Given the description of an element on the screen output the (x, y) to click on. 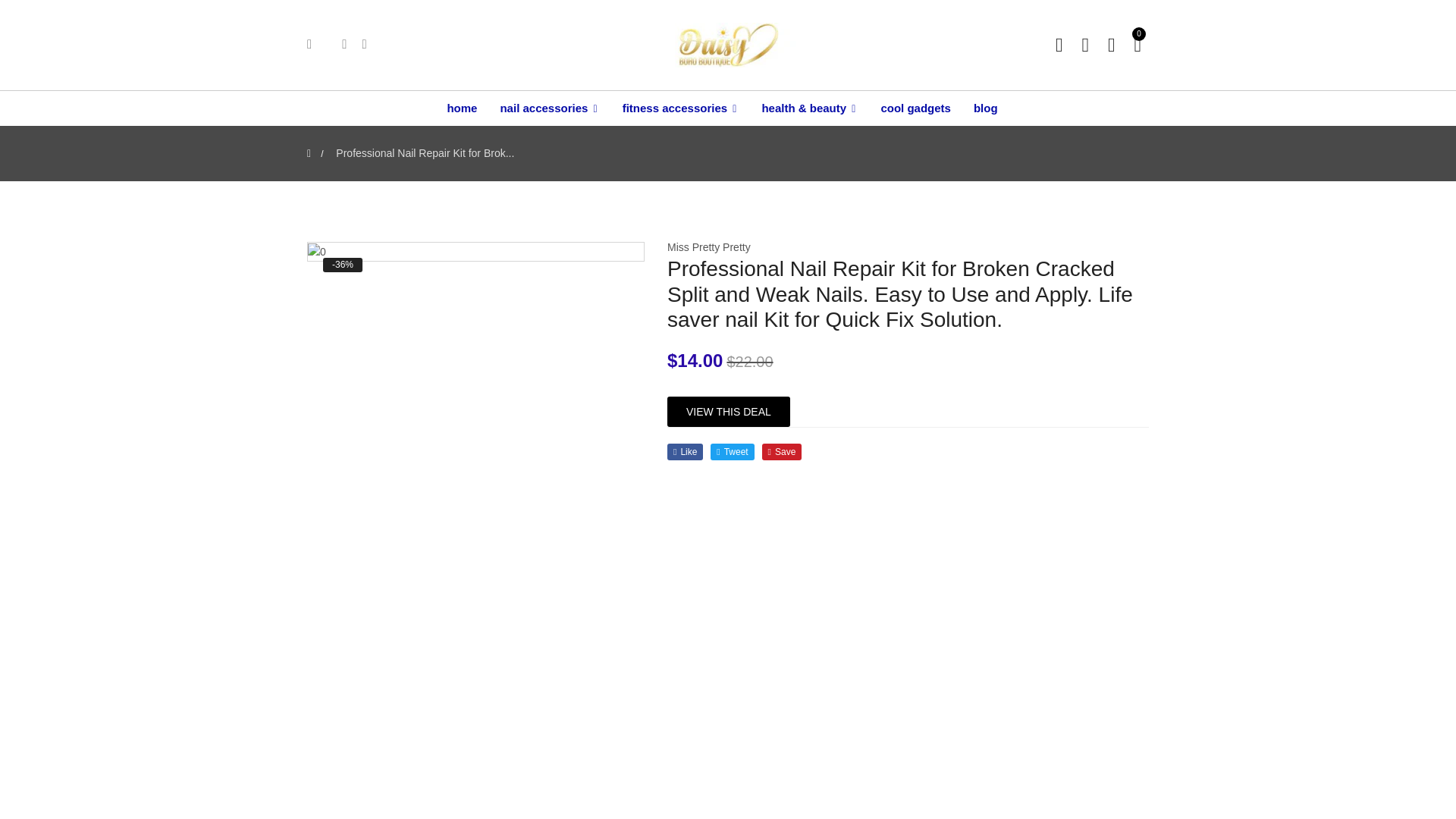
fitness accessories (681, 108)
nail accessories (548, 108)
home (466, 108)
Share on Twitter (732, 451)
Share on Facebook (684, 451)
Follow us on Pinterest (781, 451)
